Given the description of an element on the screen output the (x, y) to click on. 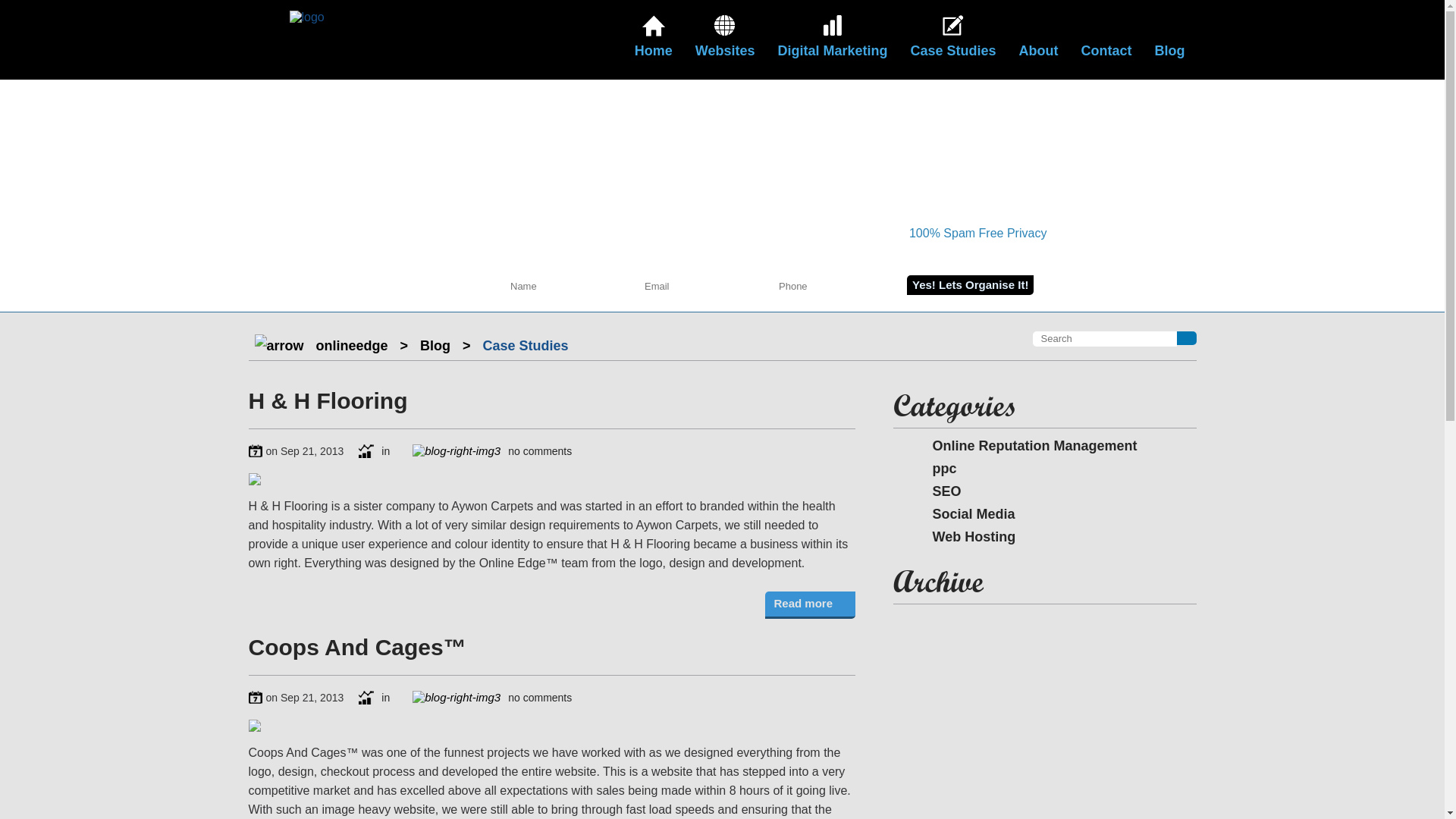
Digital Marketing Element type: text (831, 39)
onlineedge Element type: text (352, 345)
blog-right-img1 Element type: hover (255, 450)
logo Element type: hover (306, 17)
Social Media Element type: text (961, 513)
no comments Element type: text (491, 451)
Contact Element type: text (1105, 39)
no comments Element type: text (491, 697)
blog-right-img3 Element type: hover (456, 451)
Blog Element type: text (435, 345)
blog-right-img1 Element type: hover (255, 696)
Yes! Lets Organise It! Element type: text (969, 284)
Websites Element type: text (725, 39)
SEO Element type: text (934, 491)
Web Hosting Element type: text (962, 536)
blog-right-img3 Element type: hover (456, 697)
ppc Element type: text (932, 468)
About Element type: text (1038, 39)
blog-right-img2 Element type: hover (365, 697)
Blog Element type: text (1169, 39)
Home Element type: text (653, 39)
Read more Element type: text (809, 604)
H & H Flooring Element type: text (327, 400)
blog-right-img2 Element type: hover (365, 451)
in Element type: text (374, 697)
in Element type: text (374, 451)
Case Studies Element type: text (952, 39)
Online Reputation Management Element type: text (1022, 445)
